Given the description of an element on the screen output the (x, y) to click on. 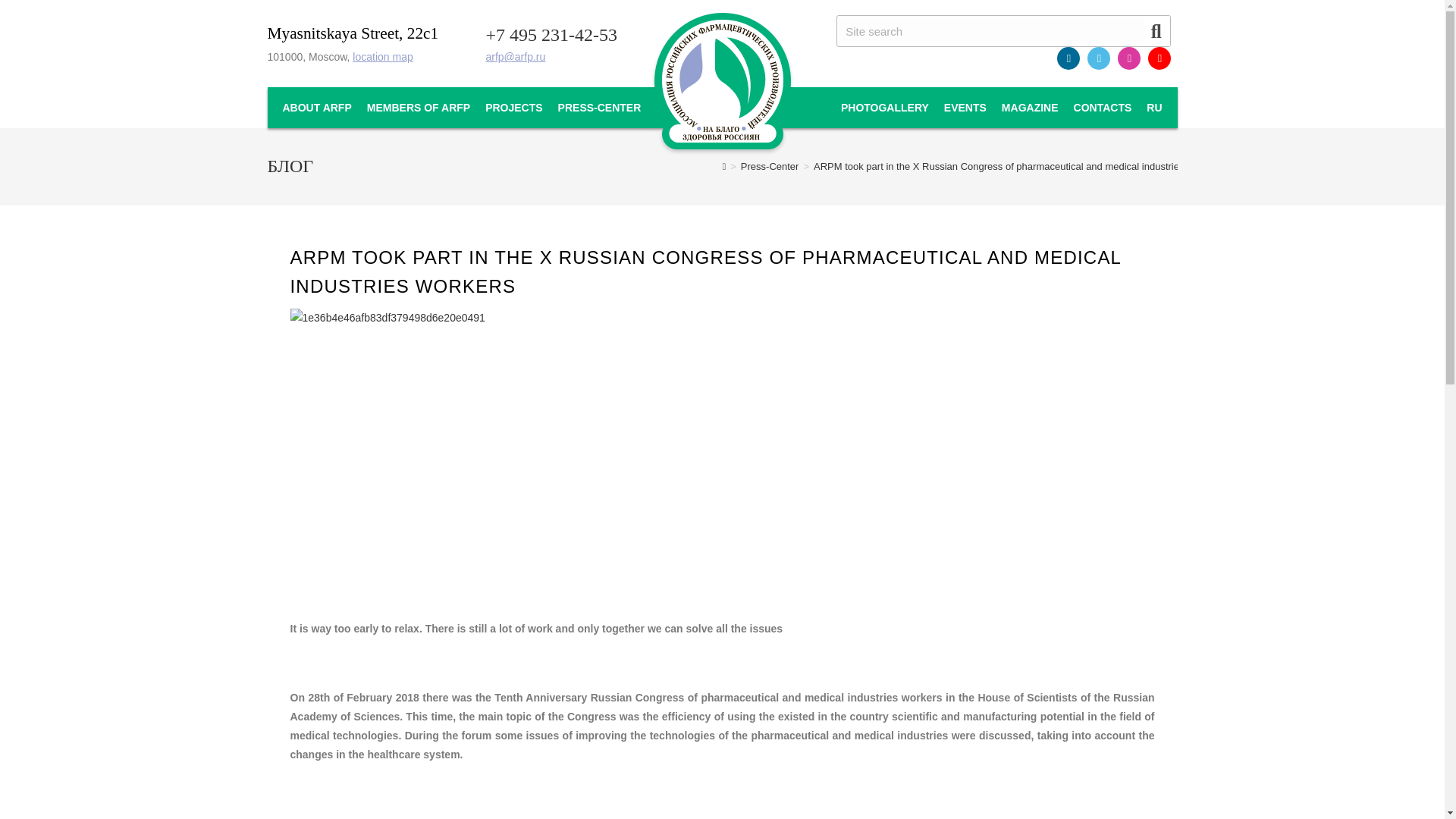
PHOTOGALLERY (884, 107)
PROJECTS (513, 107)
EVENTS (965, 107)
RU (1153, 107)
MEMBERS OF ARFP (418, 107)
location map (382, 56)
MAGAZINE (1029, 107)
CONTACTS (1102, 107)
ABOUT ARFP (316, 107)
PRESS-CENTER (599, 107)
